Given the description of an element on the screen output the (x, y) to click on. 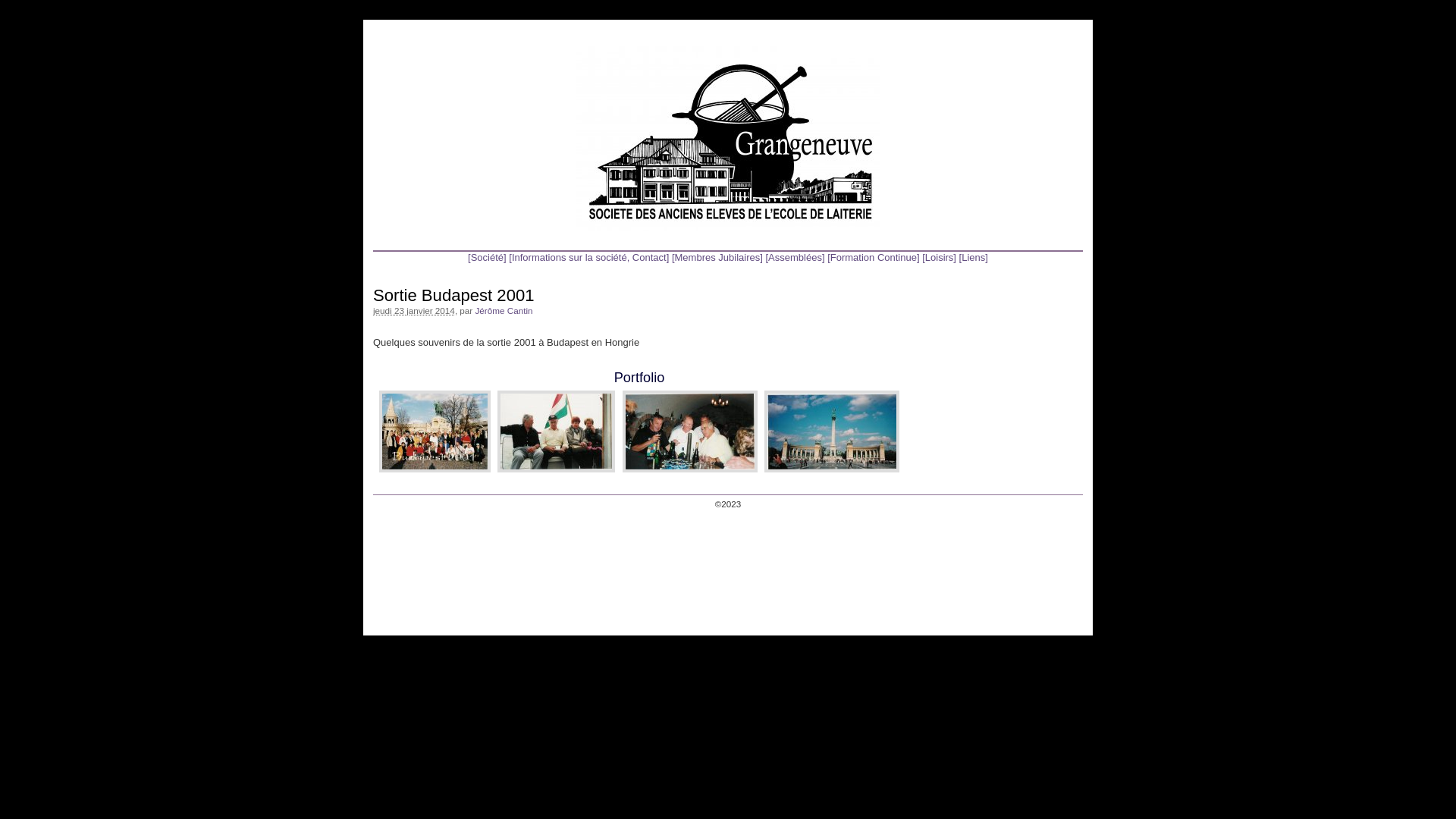
[Formation Continue] Element type: text (873, 257)
Accueil du site Element type: hover (727, 137)
[Membres Jubilaires] Element type: text (716, 257)
[Loisirs] Element type: text (939, 257)
[Liens] Element type: text (973, 257)
